Given the description of an element on the screen output the (x, y) to click on. 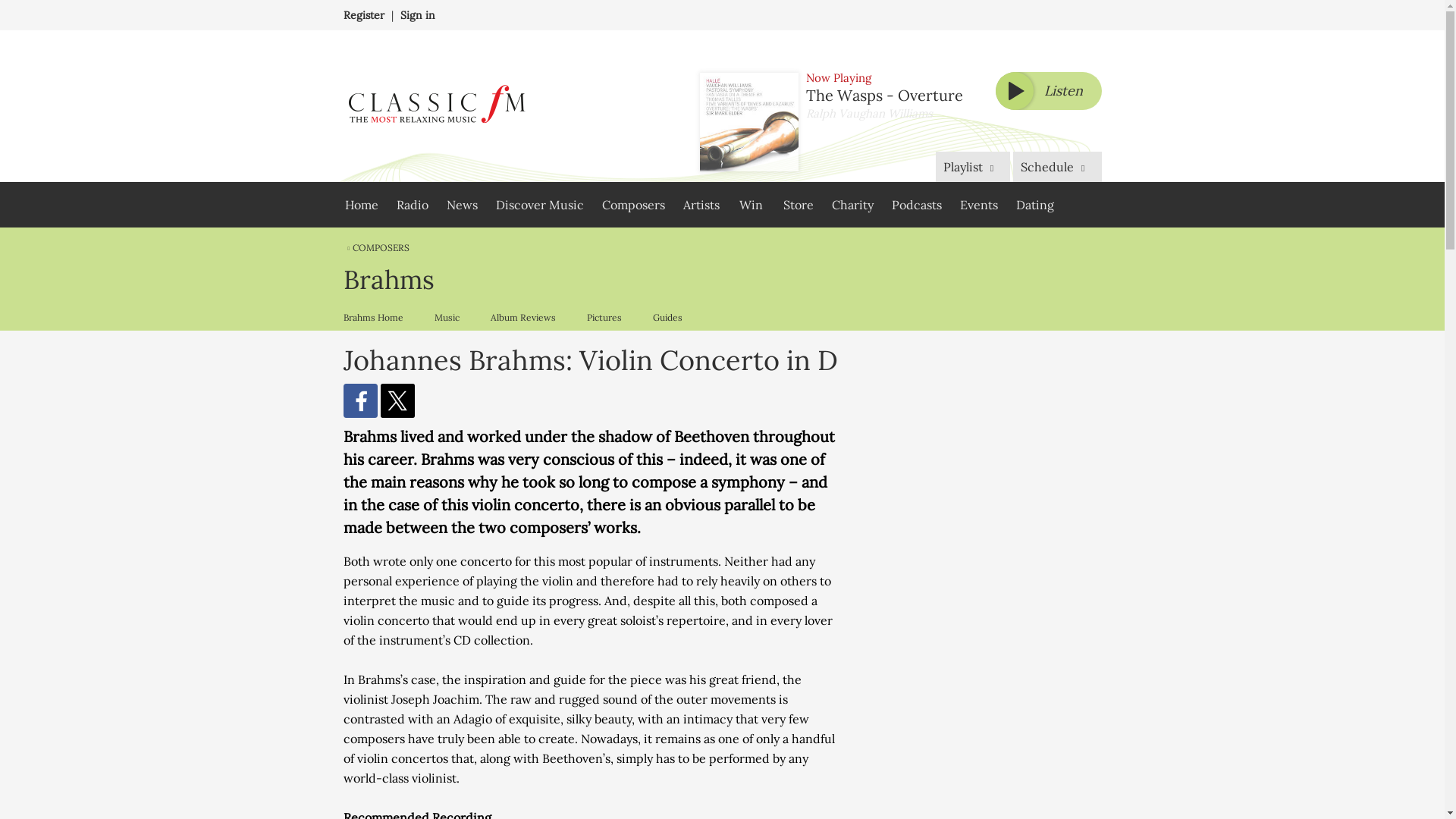
Composers (633, 204)
Dating (1034, 204)
Playlist (973, 166)
Discover Music (539, 204)
Charity (852, 204)
Schedule (1056, 166)
Album Reviews (522, 317)
Win (750, 204)
Podcasts (916, 204)
Radio (411, 204)
Store (797, 204)
Sign in (417, 15)
Artists (700, 204)
Brahms Home (375, 317)
